Given the description of an element on the screen output the (x, y) to click on. 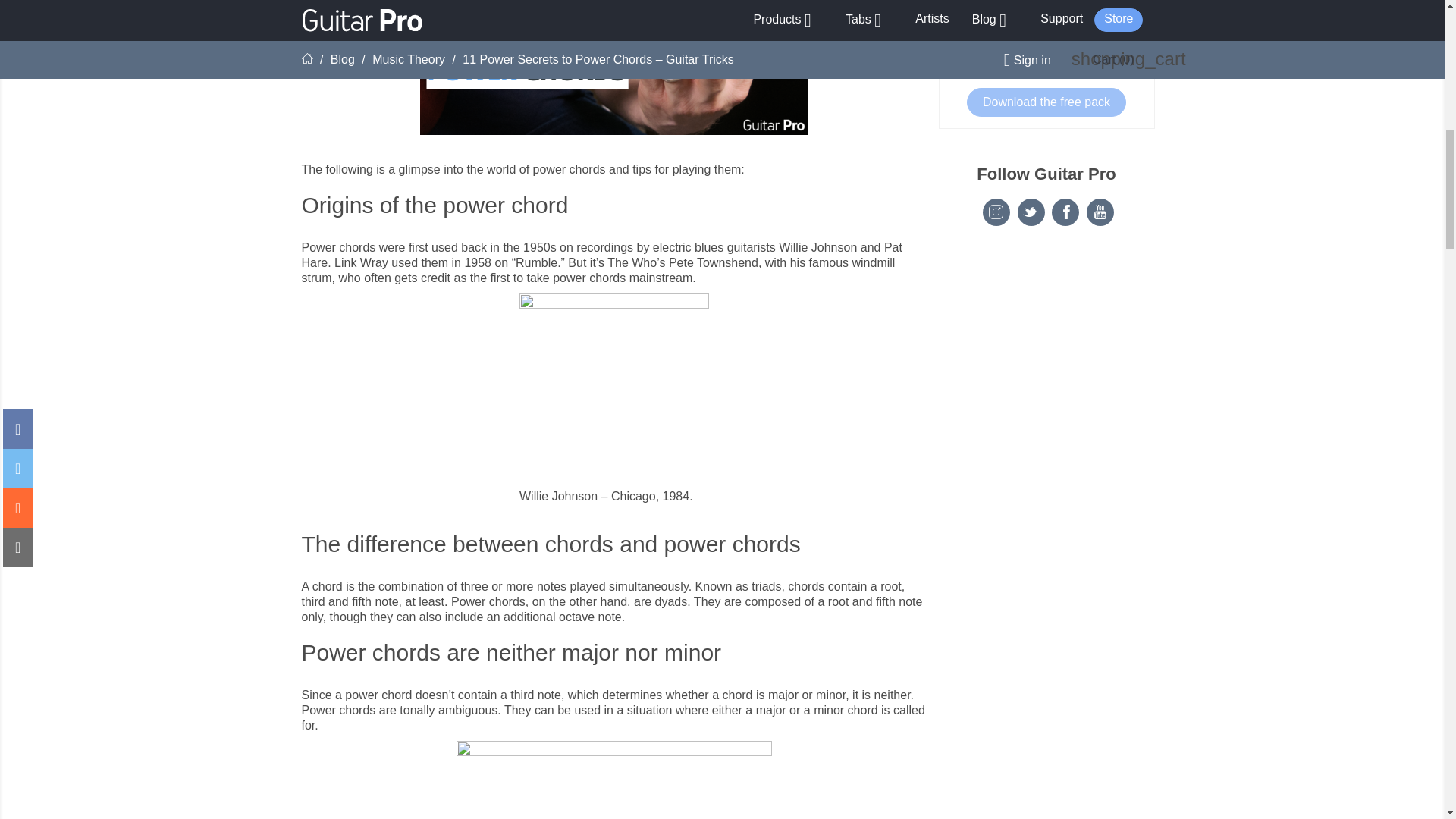
Download the free pack (1045, 102)
